Given the description of an element on the screen output the (x, y) to click on. 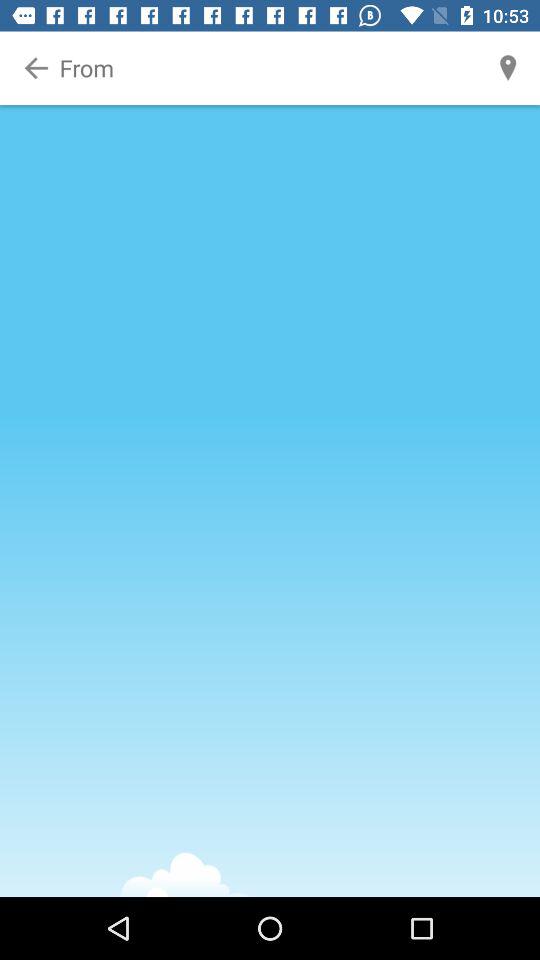
go to previous (35, 67)
